Given the description of an element on the screen output the (x, y) to click on. 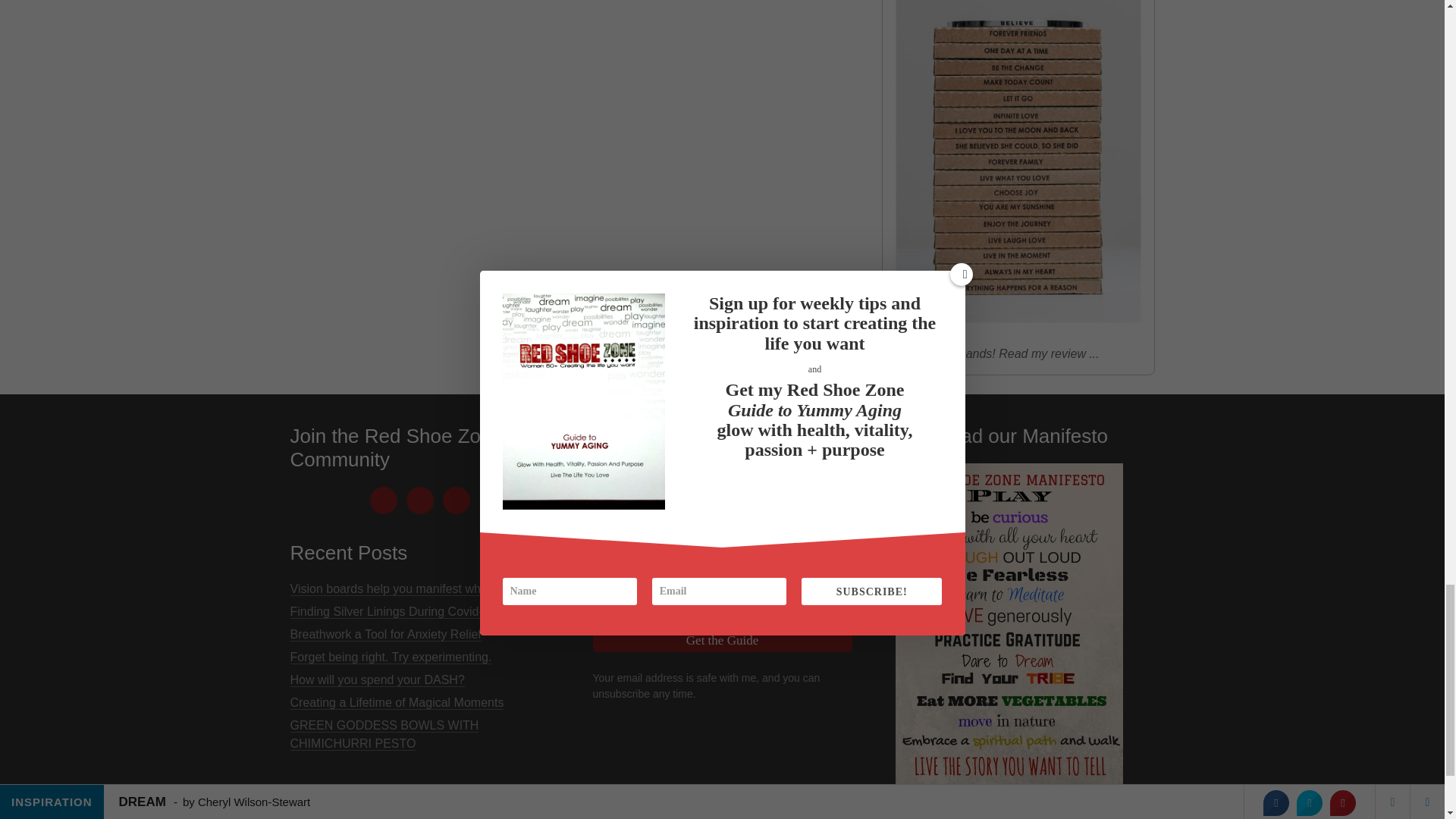
Get the Guide (721, 640)
